Given the description of an element on the screen output the (x, y) to click on. 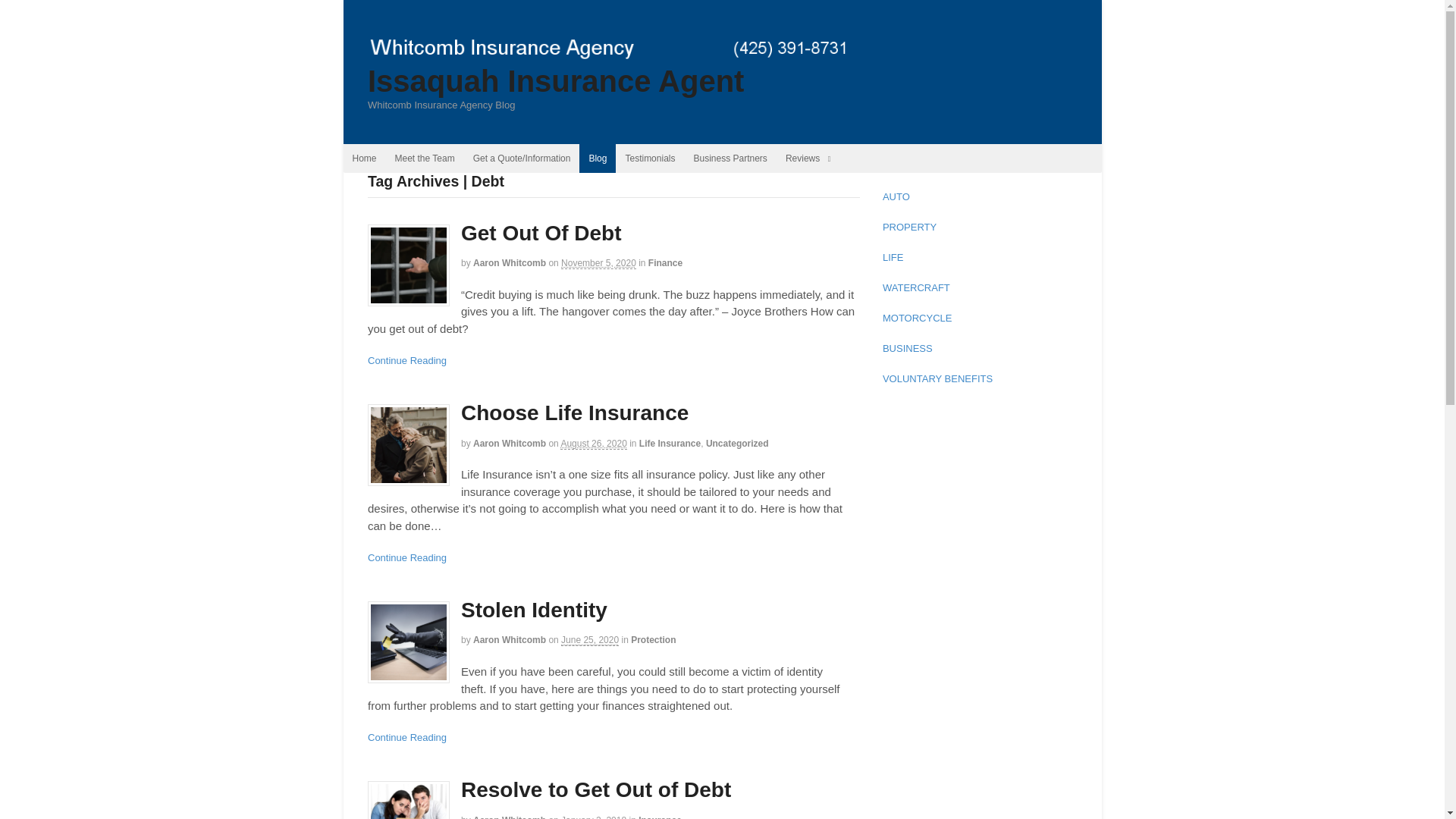
Life Insurance (669, 443)
Continue Reading (407, 737)
Stolen Identity (534, 609)
Continue Reading (407, 557)
View all items in Uncategorized (737, 443)
WATERCRAFT (916, 294)
Reviews (808, 158)
Aaron Whitcomb (509, 816)
Posts by Aaron Whitcomb (509, 443)
MOTORCYCLE (917, 325)
